Given the description of an element on the screen output the (x, y) to click on. 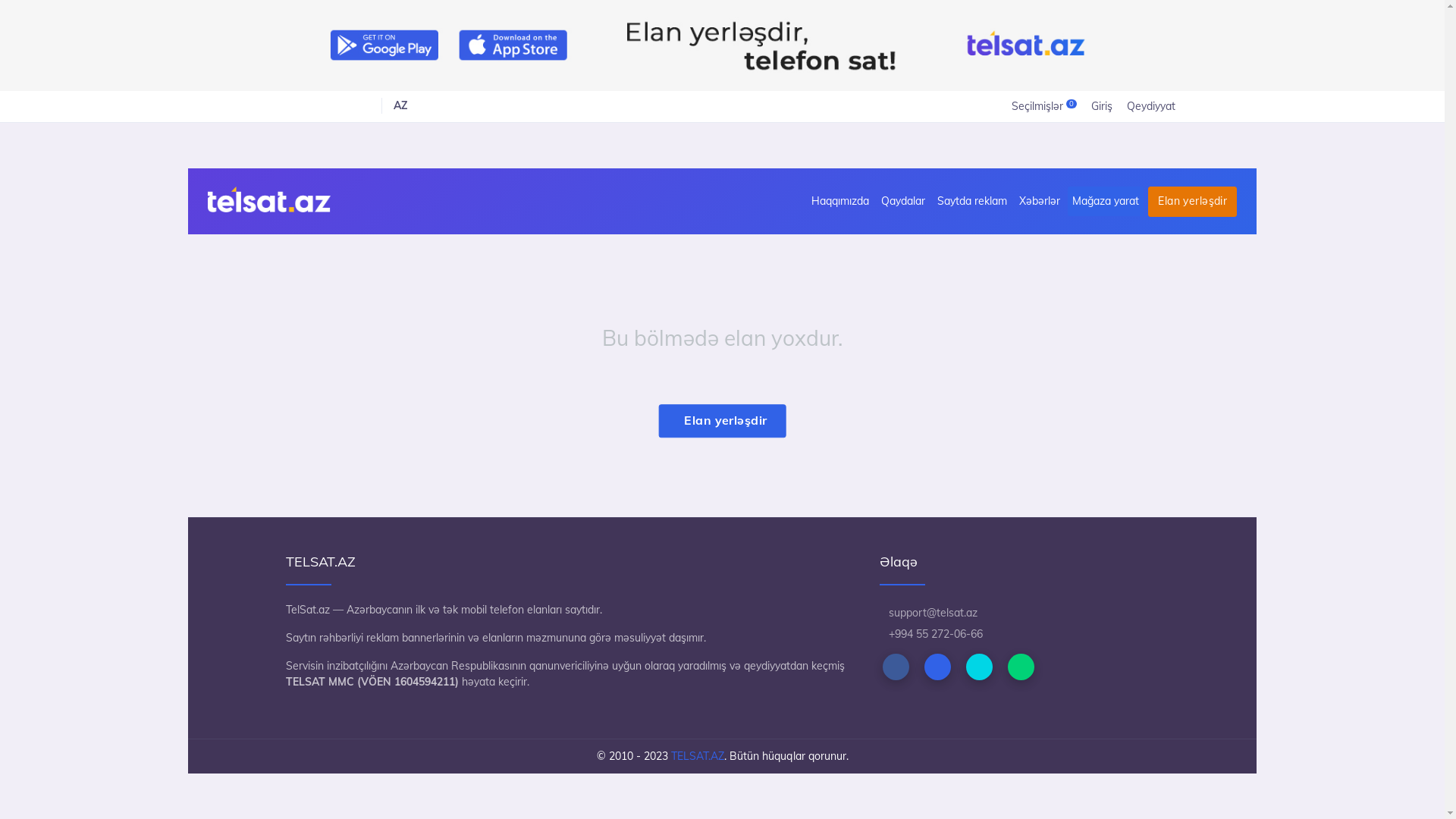
support@telsat.az Element type: text (928, 612)
+994 55 272-06-66 Element type: text (930, 633)
TELSAT.AZ Element type: hover (268, 199)
Qaydalar Element type: text (902, 201)
Saytda reklam Element type: text (971, 201)
Qeydiyyat Element type: text (1149, 105)
AZ Element type: text (399, 105)
TELSAT.AZ Element type: text (696, 755)
